Given the description of an element on the screen output the (x, y) to click on. 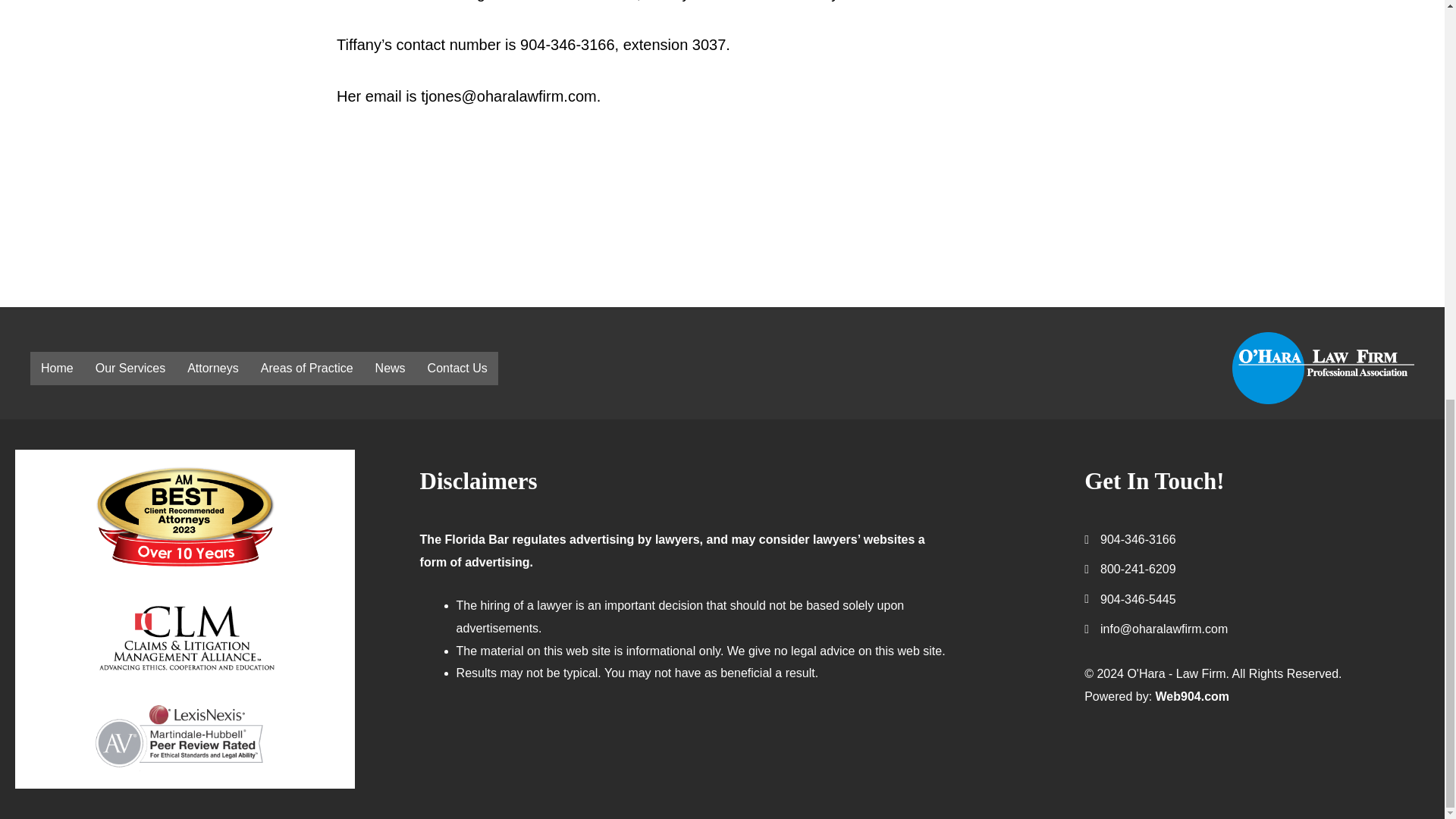
Home (57, 368)
Our Services (130, 368)
a2 (184, 738)
a1 (184, 636)
Areas of Practice (307, 368)
Web904.com (1193, 696)
904-346-5445 (1138, 599)
logo1 (1322, 368)
800-241-6209 (1138, 568)
Contact Us (456, 368)
Attorneys (212, 368)
News (390, 368)
904-346-3166 (1138, 539)
